Given the description of an element on the screen output the (x, y) to click on. 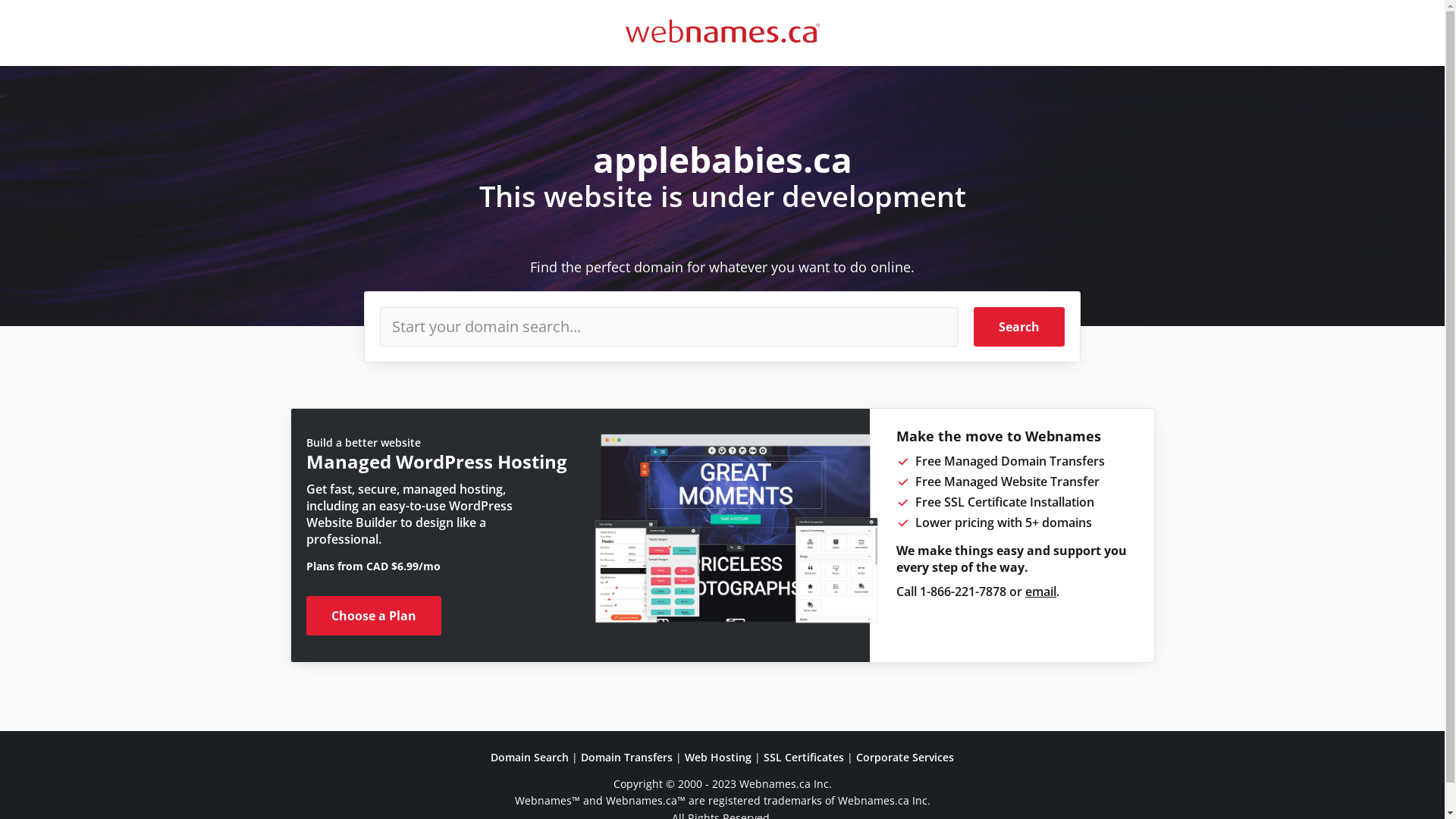
Search Element type: text (1018, 326)
Web Hosting Element type: text (717, 756)
1-866-221-7878 Element type: text (962, 591)
email Element type: text (1040, 591)
Domain Search Element type: text (529, 756)
SSL Certificates Element type: text (803, 756)
Corporate Services Element type: text (904, 756)
Domain Transfers Element type: text (626, 756)
Choose a Plan Element type: text (373, 615)
